Given the description of an element on the screen output the (x, y) to click on. 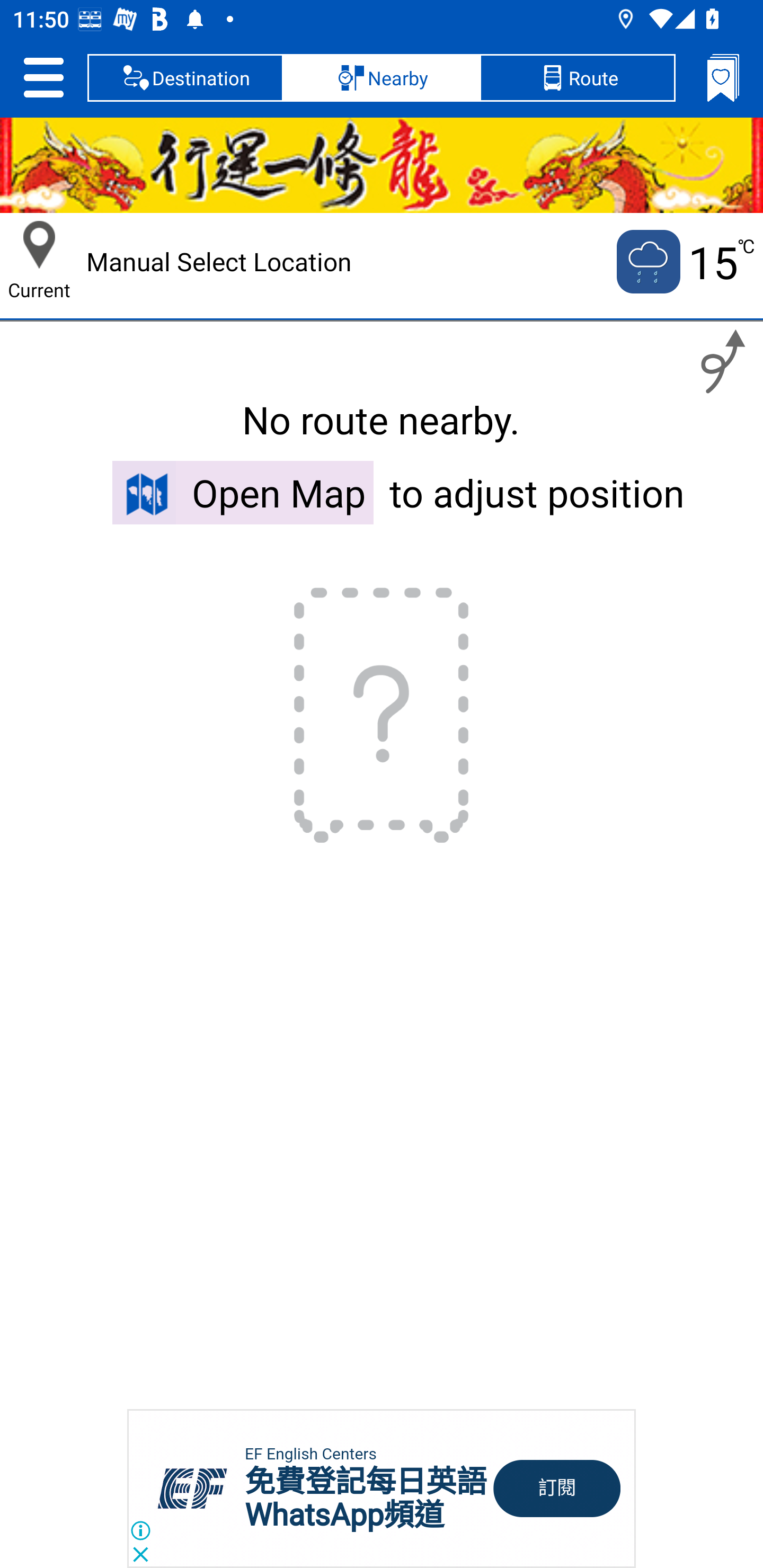
Destination (185, 77)
Nearby, selected (381, 77)
Route (577, 77)
Bookmarks (723, 77)
Setting (43, 77)
Lunar New Year 2024 (381, 165)
Current Location (38, 244)
Current temputure is  15  no 15 ℃ (684, 261)
Open Map (242, 491)
EF English Centers (310, 1454)
訂閱 (556, 1488)
免費登記每日英語 WhatsApp頻道 免費登記每日英語 WhatsApp頻道 (365, 1497)
